Given the description of an element on the screen output the (x, y) to click on. 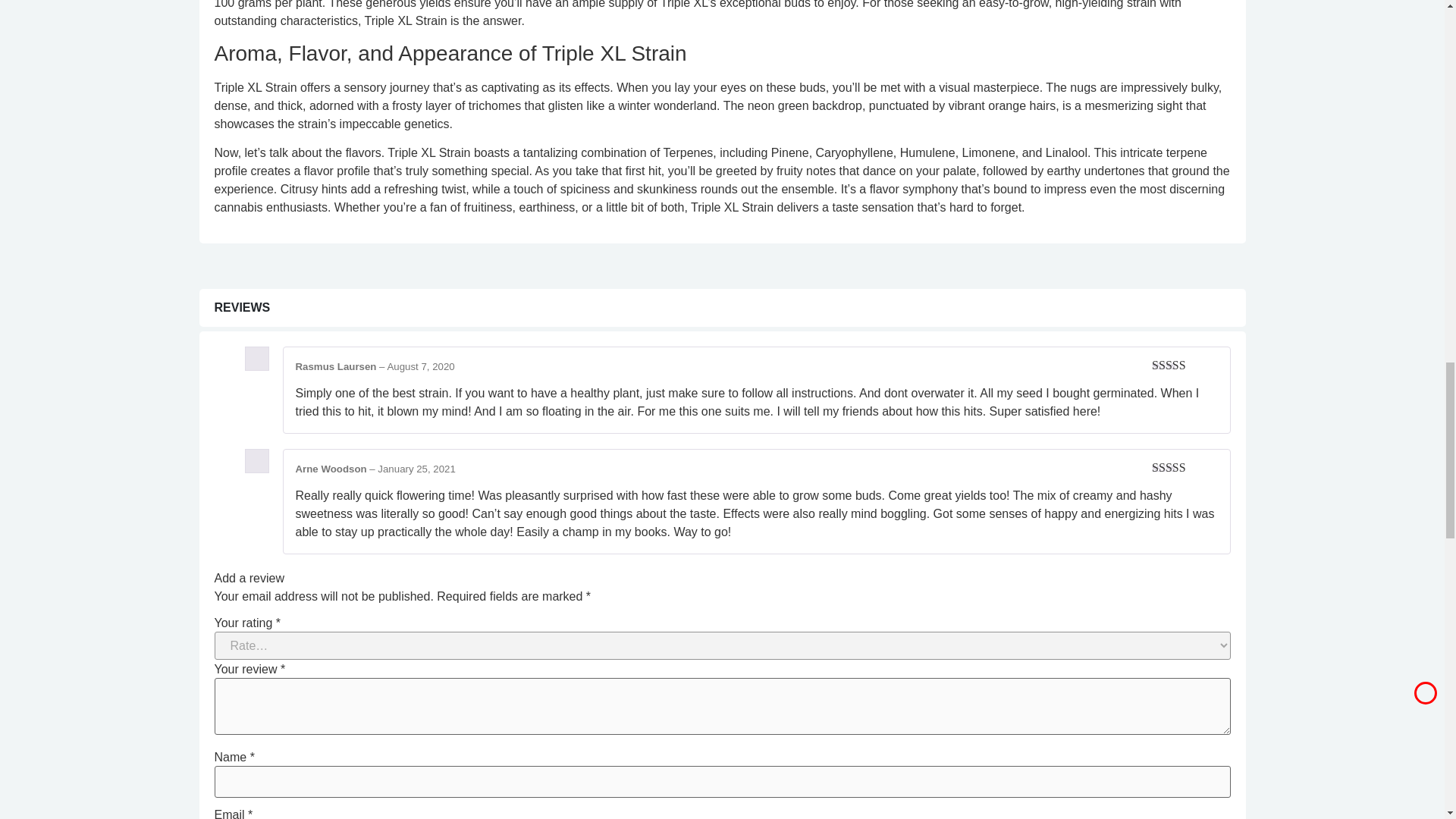
Gravatar for Arne Woodson (255, 460)
Gravatar for Rasmus Laursen (255, 358)
